Given the description of an element on the screen output the (x, y) to click on. 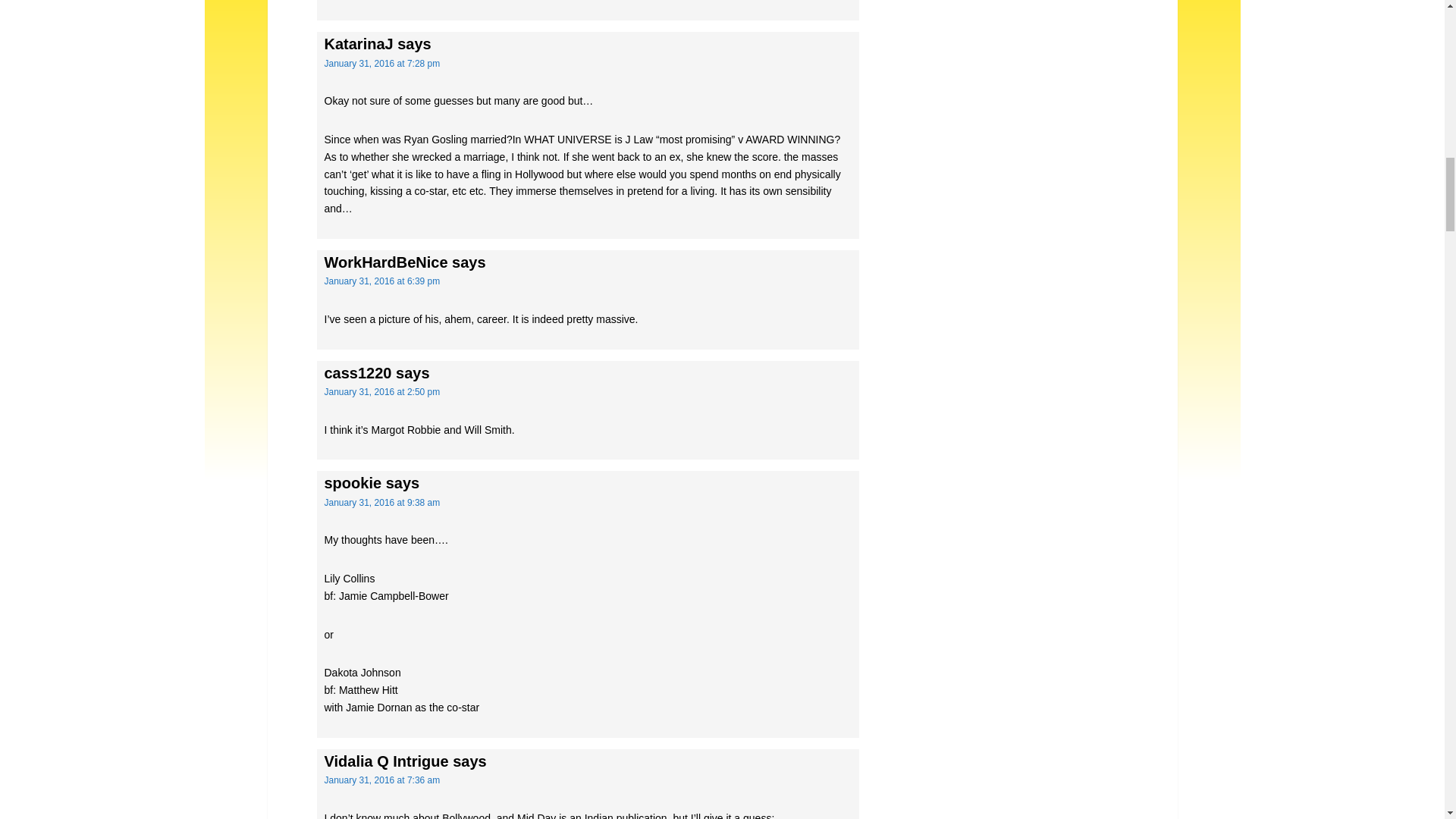
January 31, 2016 at 9:38 am (382, 502)
January 31, 2016 at 7:36 am (382, 779)
January 31, 2016 at 2:50 pm (382, 391)
January 31, 2016 at 6:39 pm (382, 281)
January 31, 2016 at 7:28 pm (382, 63)
